Given the description of an element on the screen output the (x, y) to click on. 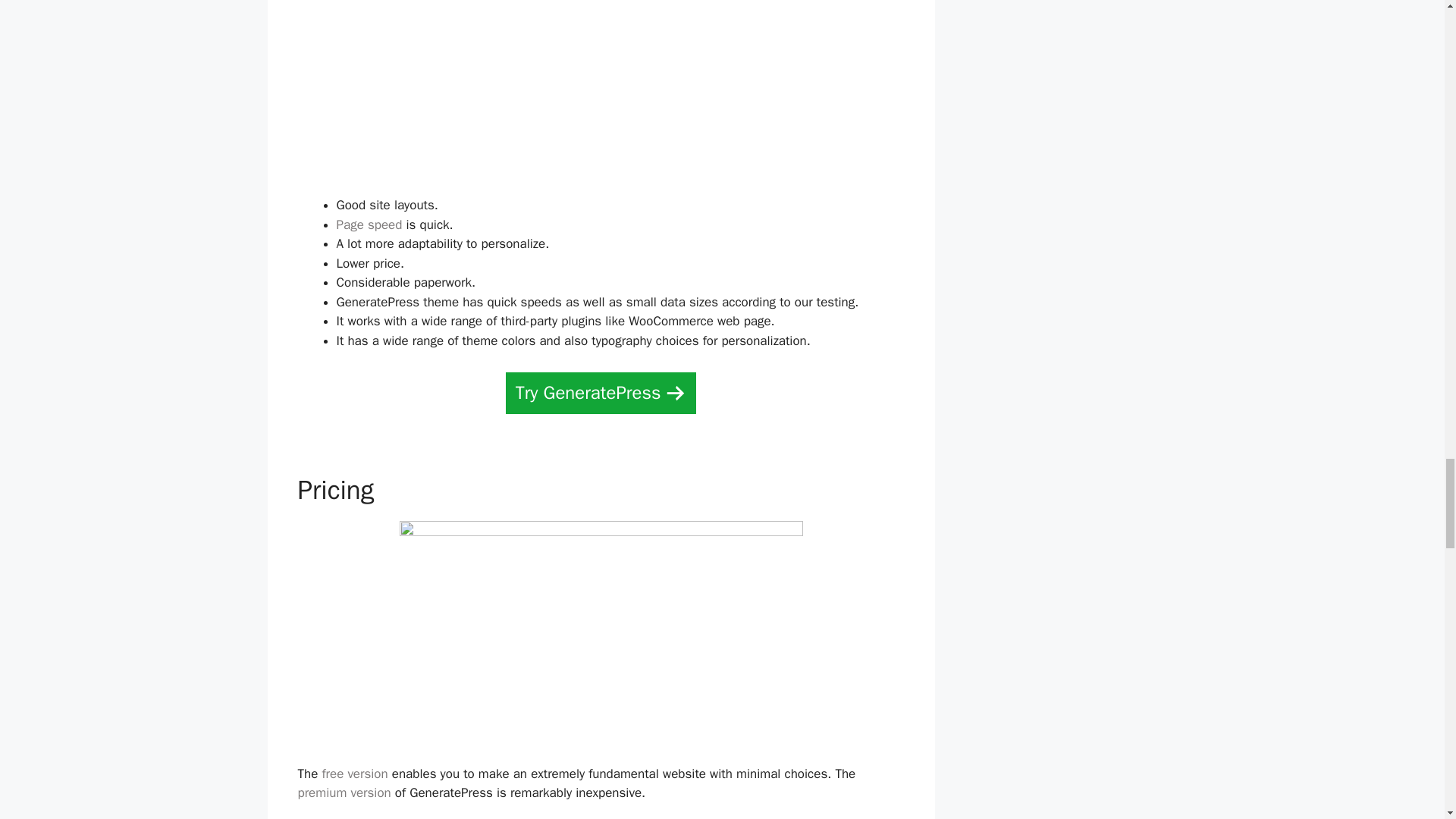
premium version (343, 792)
free version (354, 773)
Page speed (369, 224)
Try GeneratePress (601, 393)
